Given the description of an element on the screen output the (x, y) to click on. 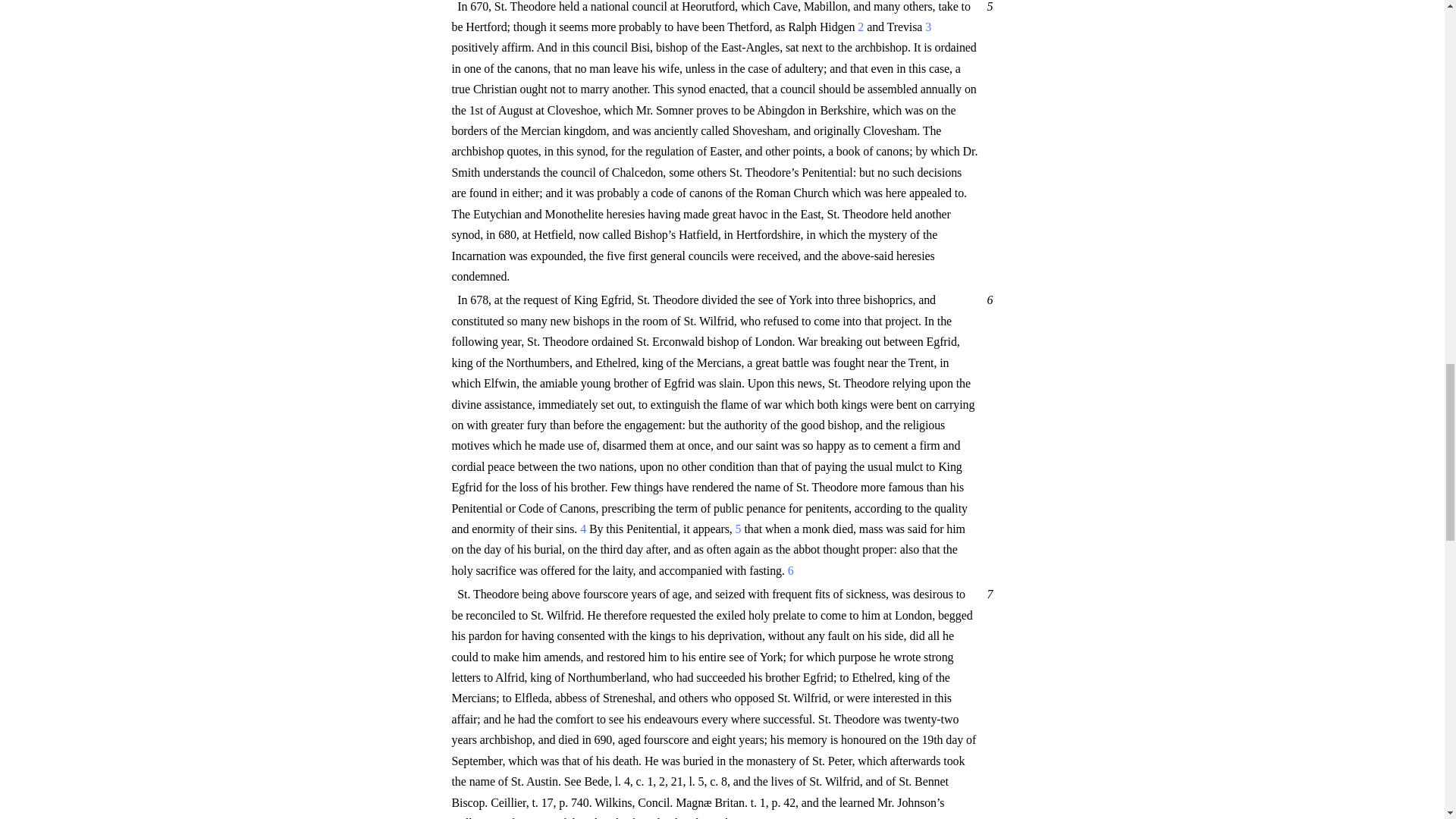
  6 (986, 299)
  7 (986, 594)
  5 (986, 6)
